Given the description of an element on the screen output the (x, y) to click on. 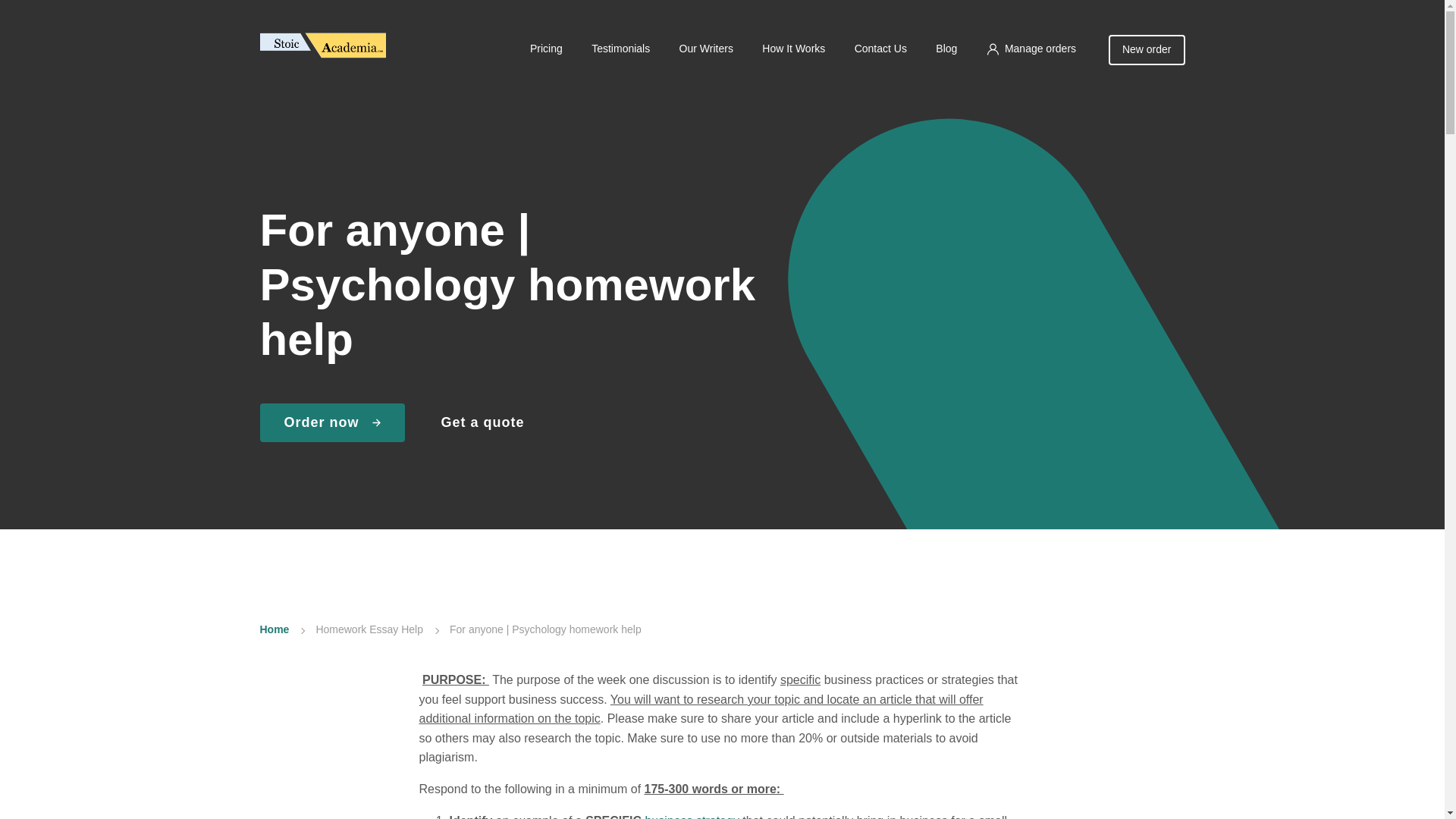
Order now (331, 423)
Manage orders (1031, 49)
Our Writers (706, 48)
Home (273, 629)
business strategy (692, 816)
Get a quote (482, 423)
Contact Us (880, 48)
Pricing (545, 48)
How It Works (793, 48)
New order (1146, 50)
